Given the description of an element on the screen output the (x, y) to click on. 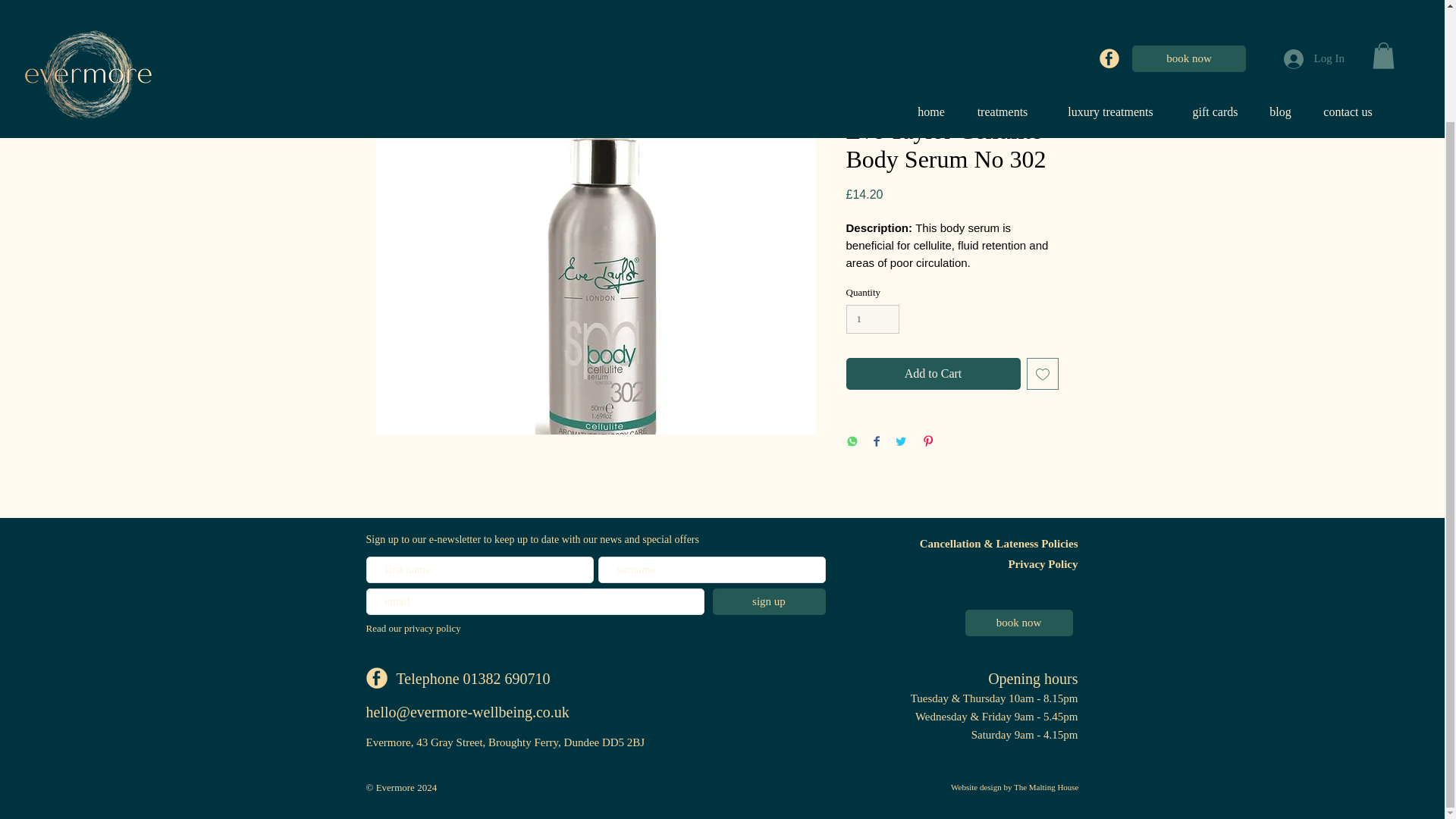
1 (872, 318)
Add to Cart (932, 373)
book now (1017, 622)
Privacy Policy (1042, 563)
Read our privacy policy (412, 627)
sign up (769, 601)
